Given the description of an element on the screen output the (x, y) to click on. 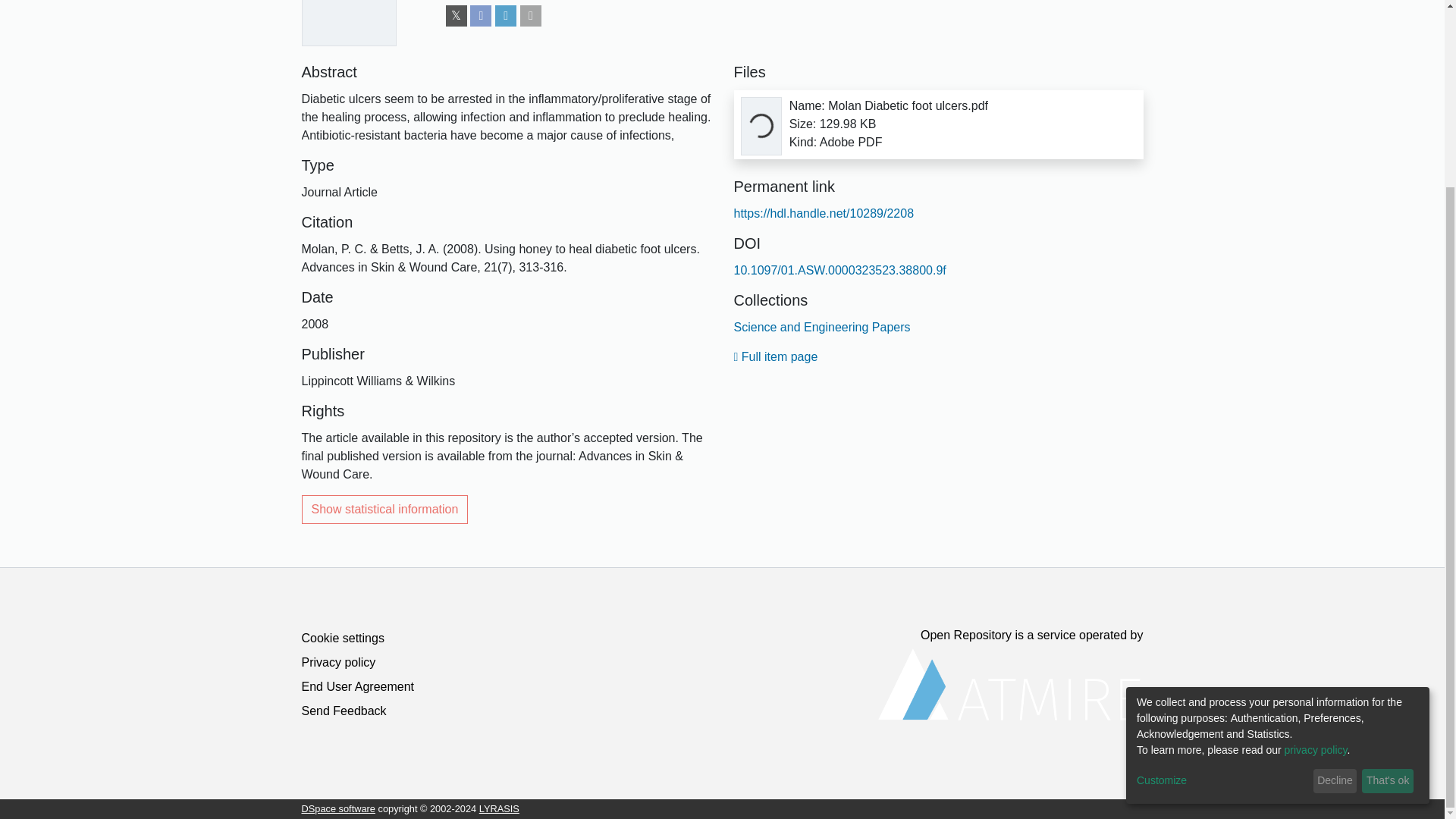
Show statistical information (384, 509)
Full item page (775, 356)
Science and Engineering Papers (822, 327)
Privacy policy (338, 662)
Cookie settings (342, 637)
